Given the description of an element on the screen output the (x, y) to click on. 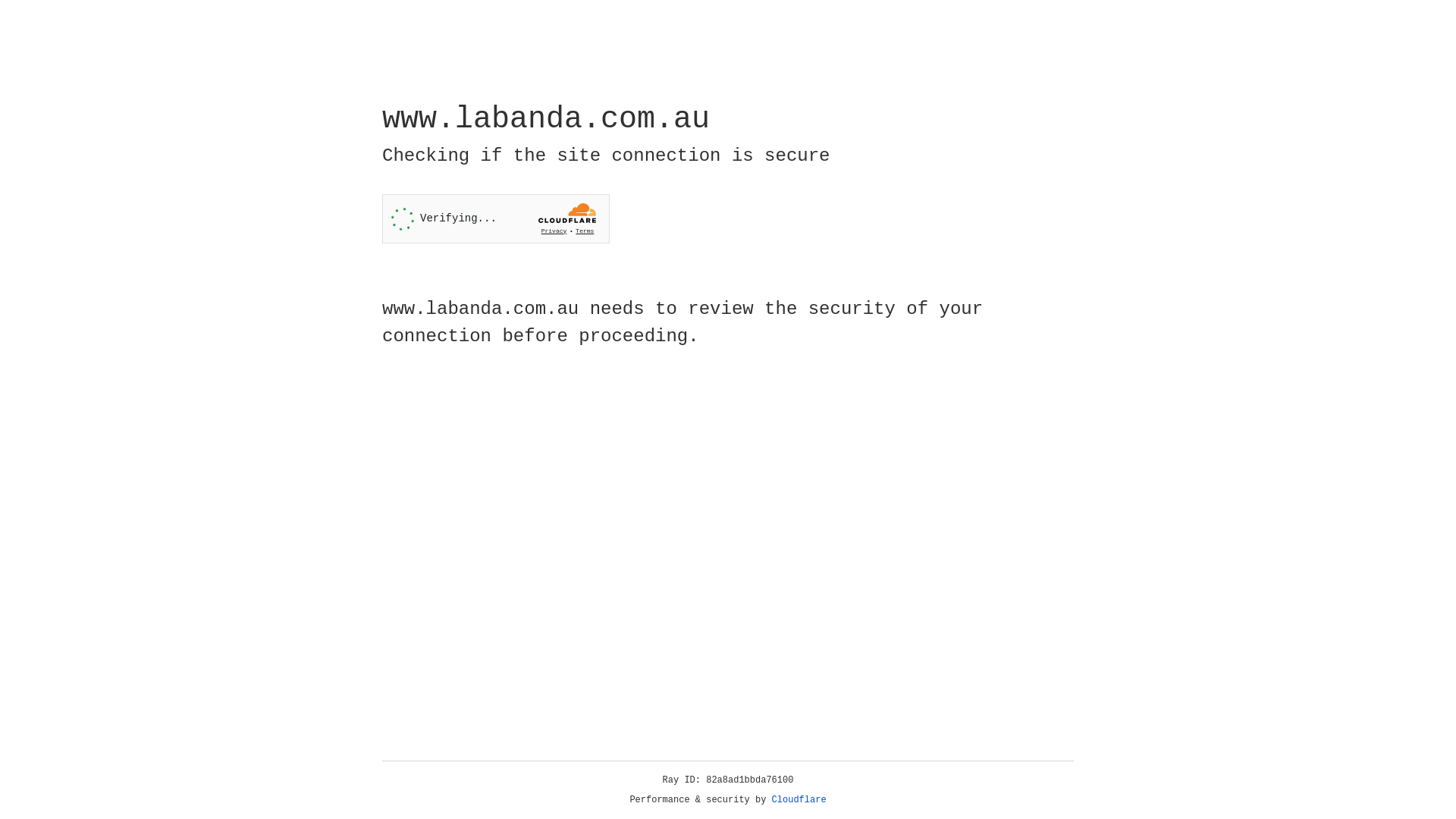
Cloudflare Element type: text (798, 799)
Widget containing a Cloudflare security challenge Element type: hover (495, 218)
